Given the description of an element on the screen output the (x, y) to click on. 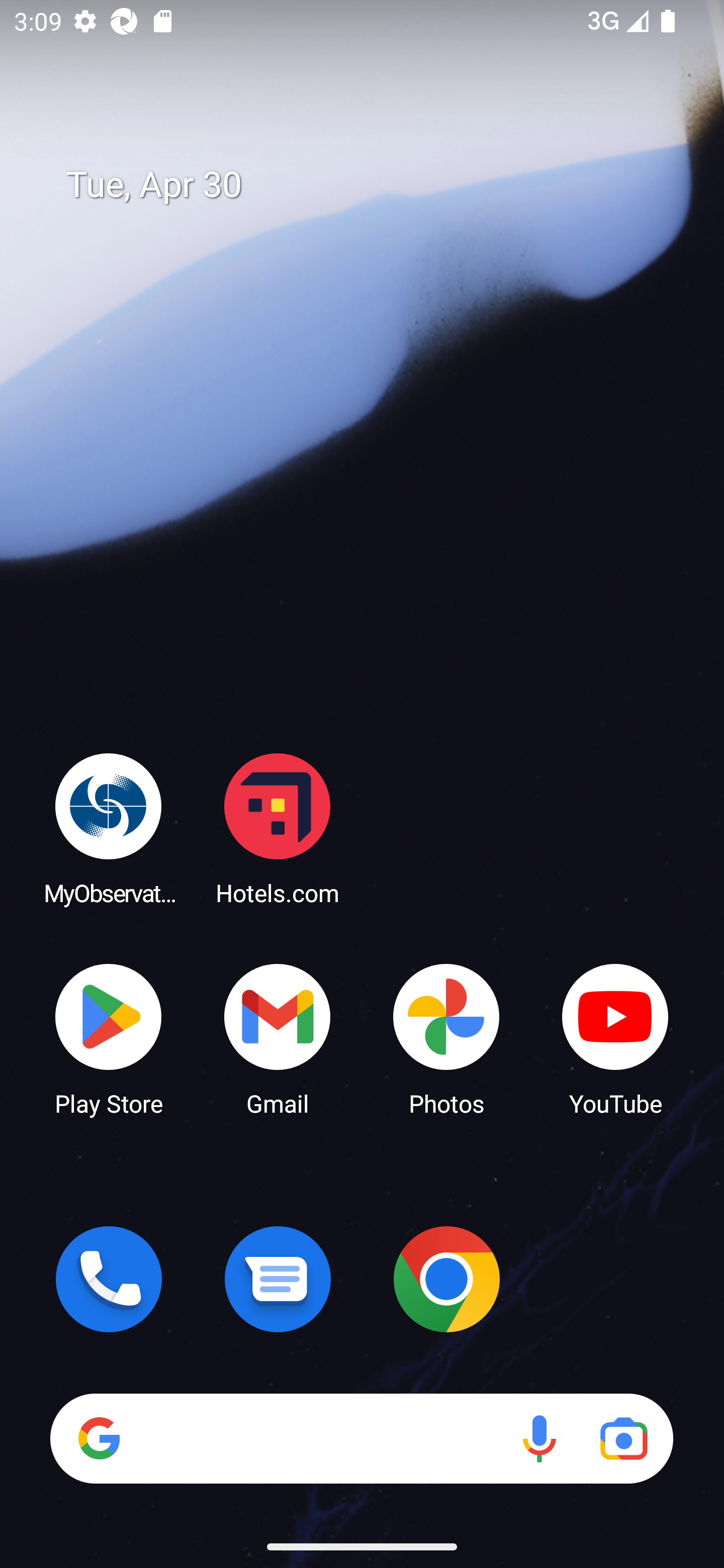
Tue, Apr 30 (375, 184)
MyObservatory (108, 828)
Hotels.com (277, 828)
Play Store (108, 1038)
Gmail (277, 1038)
Photos (445, 1038)
YouTube (615, 1038)
Phone (108, 1279)
Messages (277, 1279)
Chrome (446, 1279)
Search Voice search Google Lens (361, 1438)
Voice search (539, 1438)
Google Lens (623, 1438)
